Given the description of an element on the screen output the (x, y) to click on. 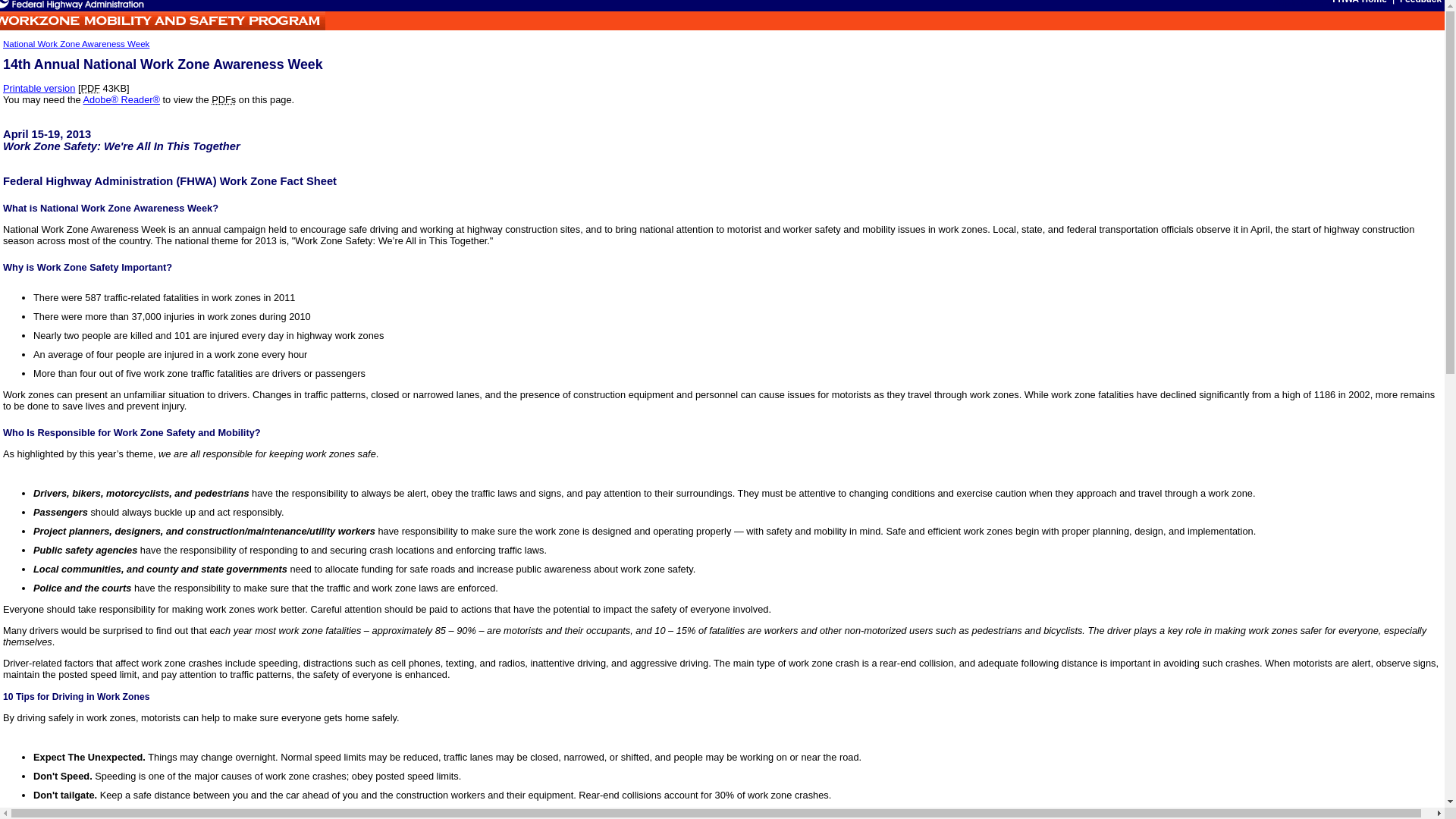
Printable version (38, 88)
Portable Document Format (90, 88)
Skip to content (1299, 3)
National Work Zone Awareness Week (75, 43)
Portable Document Format (223, 99)
